Given the description of an element on the screen output the (x, y) to click on. 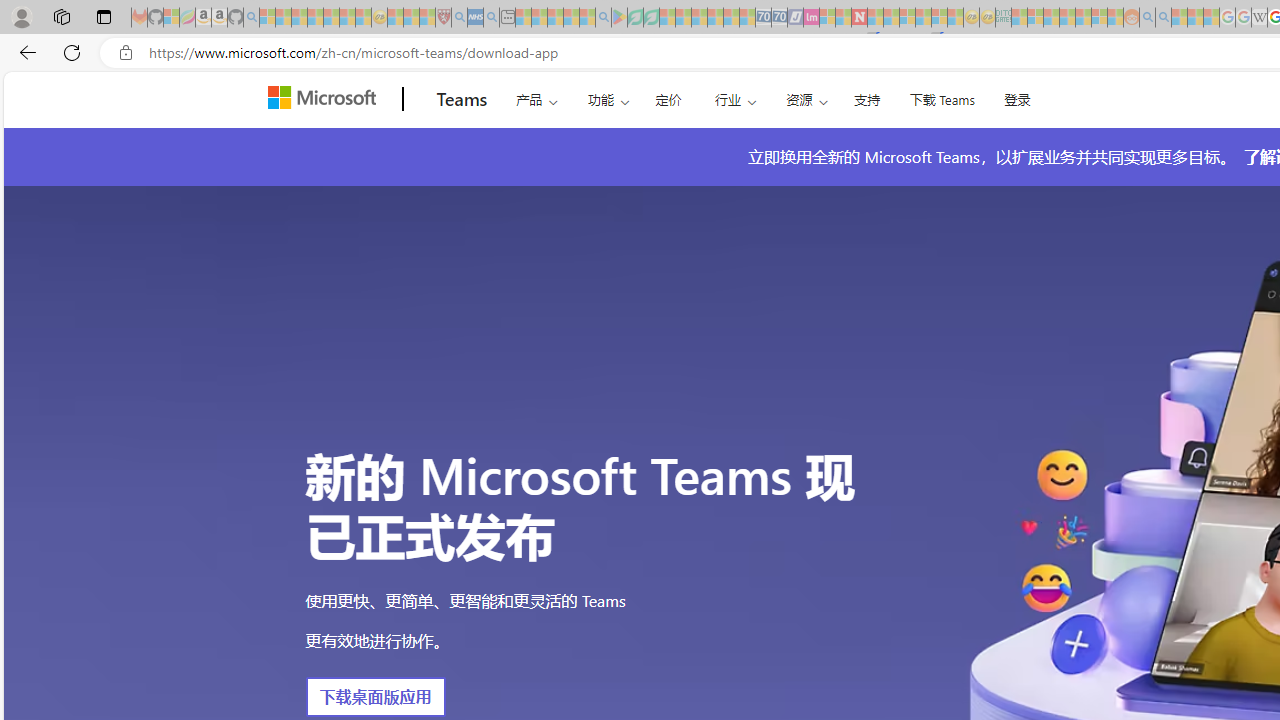
Teams (461, 99)
